Given the description of an element on the screen output the (x, y) to click on. 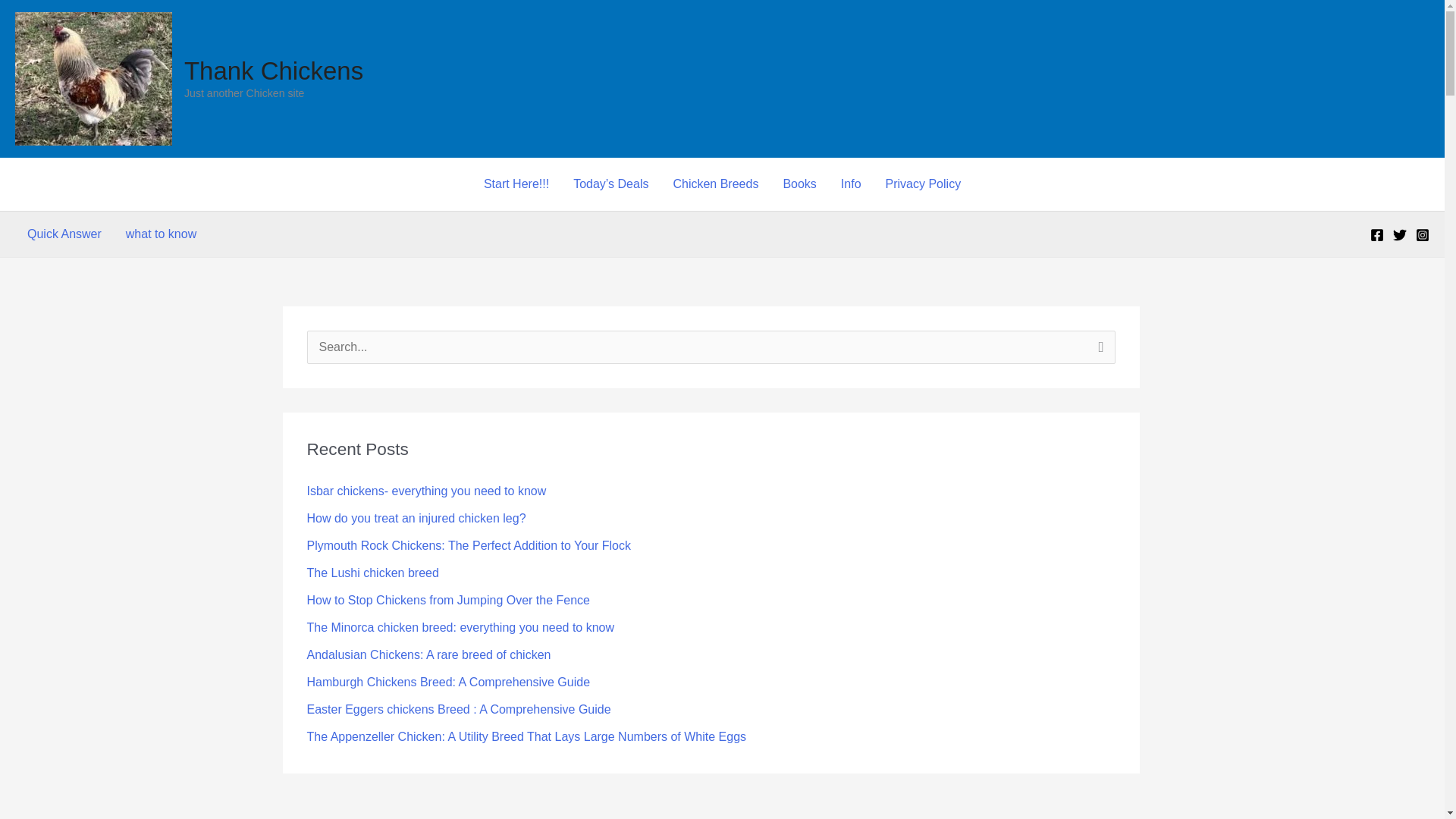
Books (799, 184)
Hamburgh Chickens Breed: A Comprehensive Guide (447, 681)
Chicken Breeds (715, 184)
How do you treat an injured chicken leg? (415, 517)
Start Here!!! (515, 184)
Quick Answer (63, 234)
Thank Chickens (273, 70)
Isbar chickens- everything you need to know (425, 490)
Plymouth Rock Chickens: The Perfect Addition to Your Flock (467, 545)
